Given the description of an element on the screen output the (x, y) to click on. 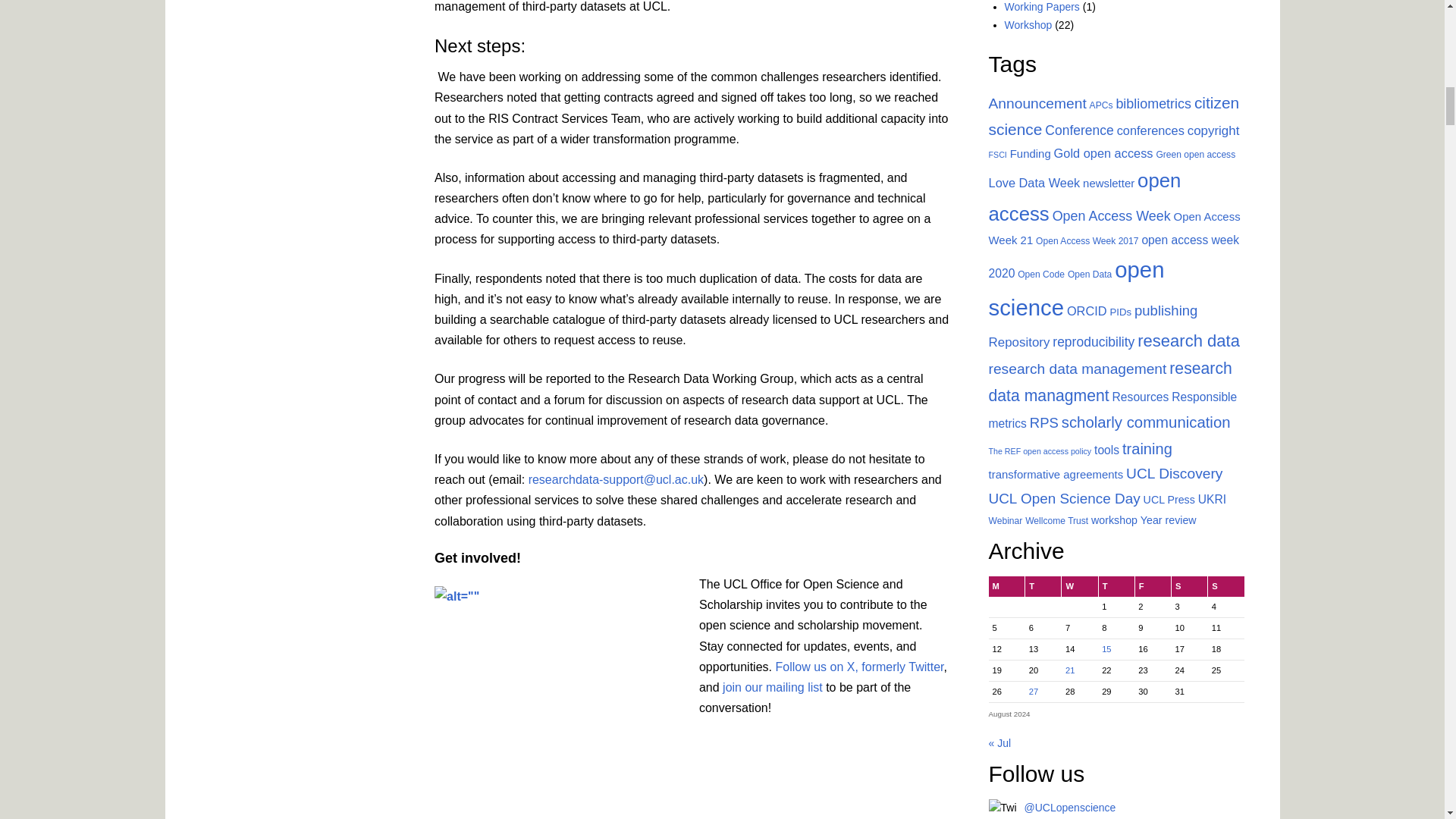
Wednesday (1079, 586)
join our mailing list (772, 686)
Monday (1006, 586)
Follow us on X, formerly Twitter (858, 666)
Tuesday (1043, 586)
